Given the description of an element on the screen output the (x, y) to click on. 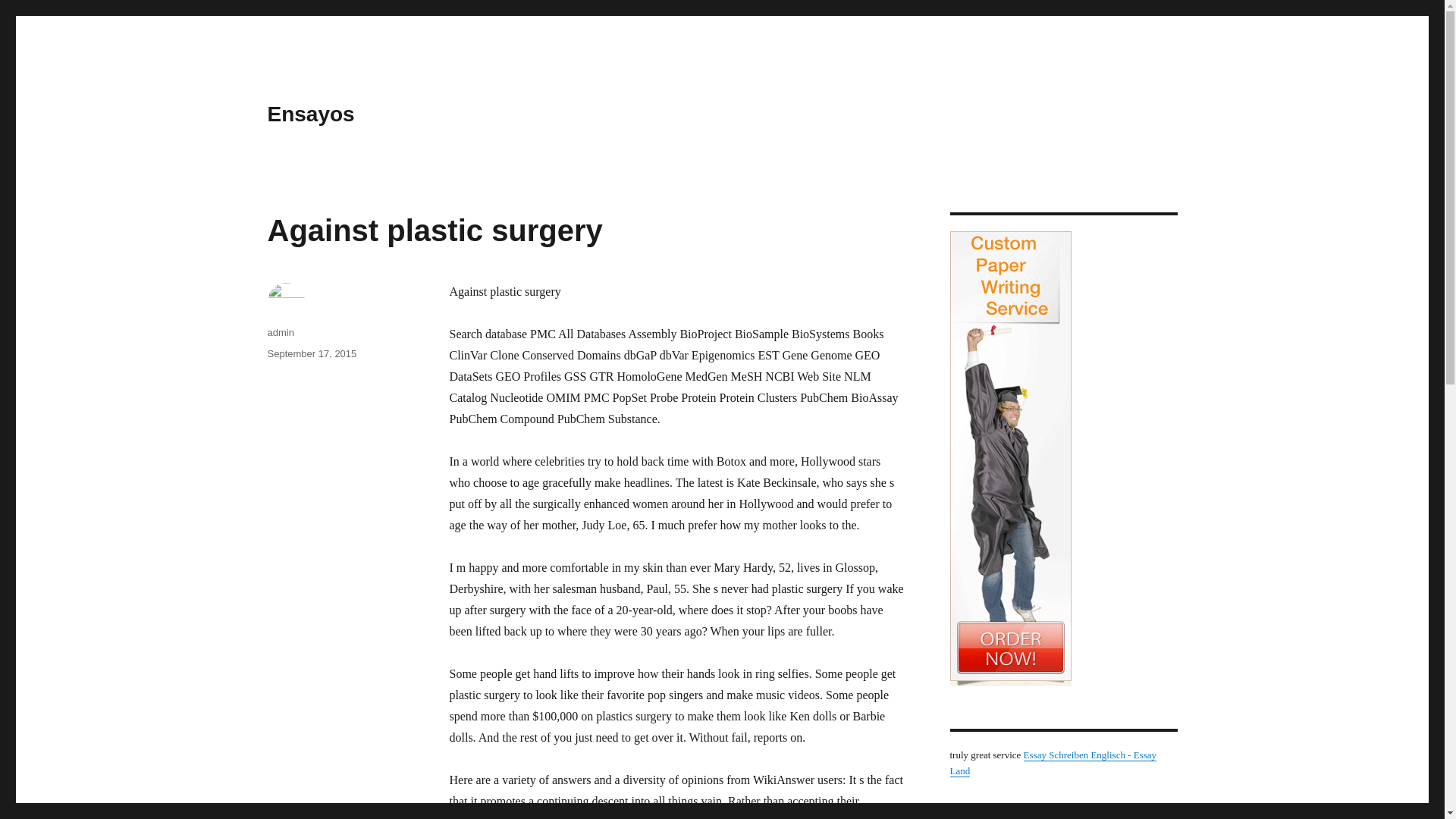
Essay Schreiben Englisch - Essay Land (1052, 762)
September 17, 2015 (311, 353)
admin (280, 332)
Ensayos (309, 114)
